Given the description of an element on the screen output the (x, y) to click on. 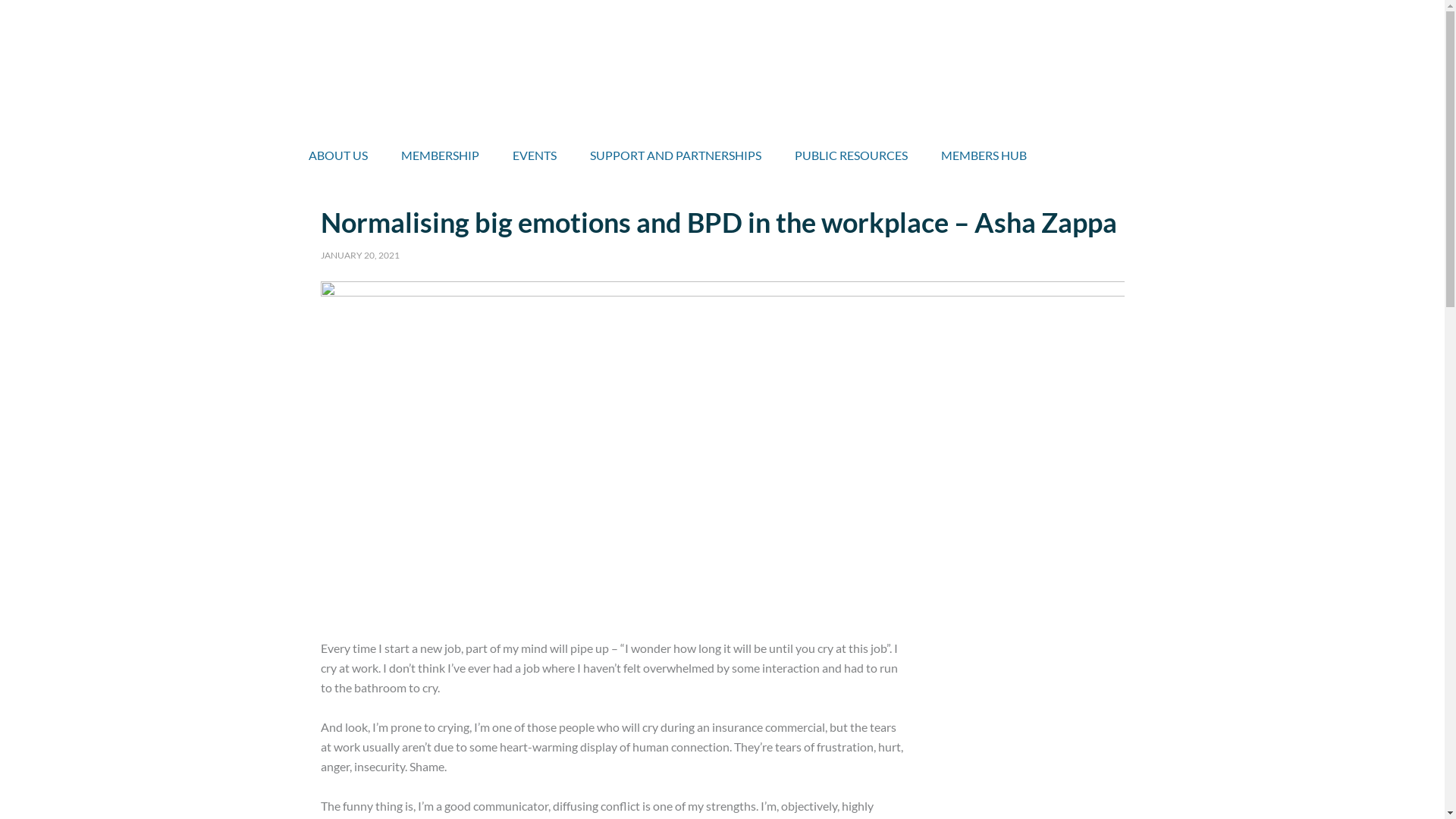
WAYAHEAD WORKPLACES Element type: text (721, 64)
EVENTS Element type: text (534, 153)
MEMBERSHIP Element type: text (439, 153)
PUBLIC RESOURCES Element type: text (850, 153)
ABOUT US Element type: text (337, 153)
SUPPORT AND PARTNERSHIPS Element type: text (675, 153)
MEMBERS HUB Element type: text (983, 153)
